Given the description of an element on the screen output the (x, y) to click on. 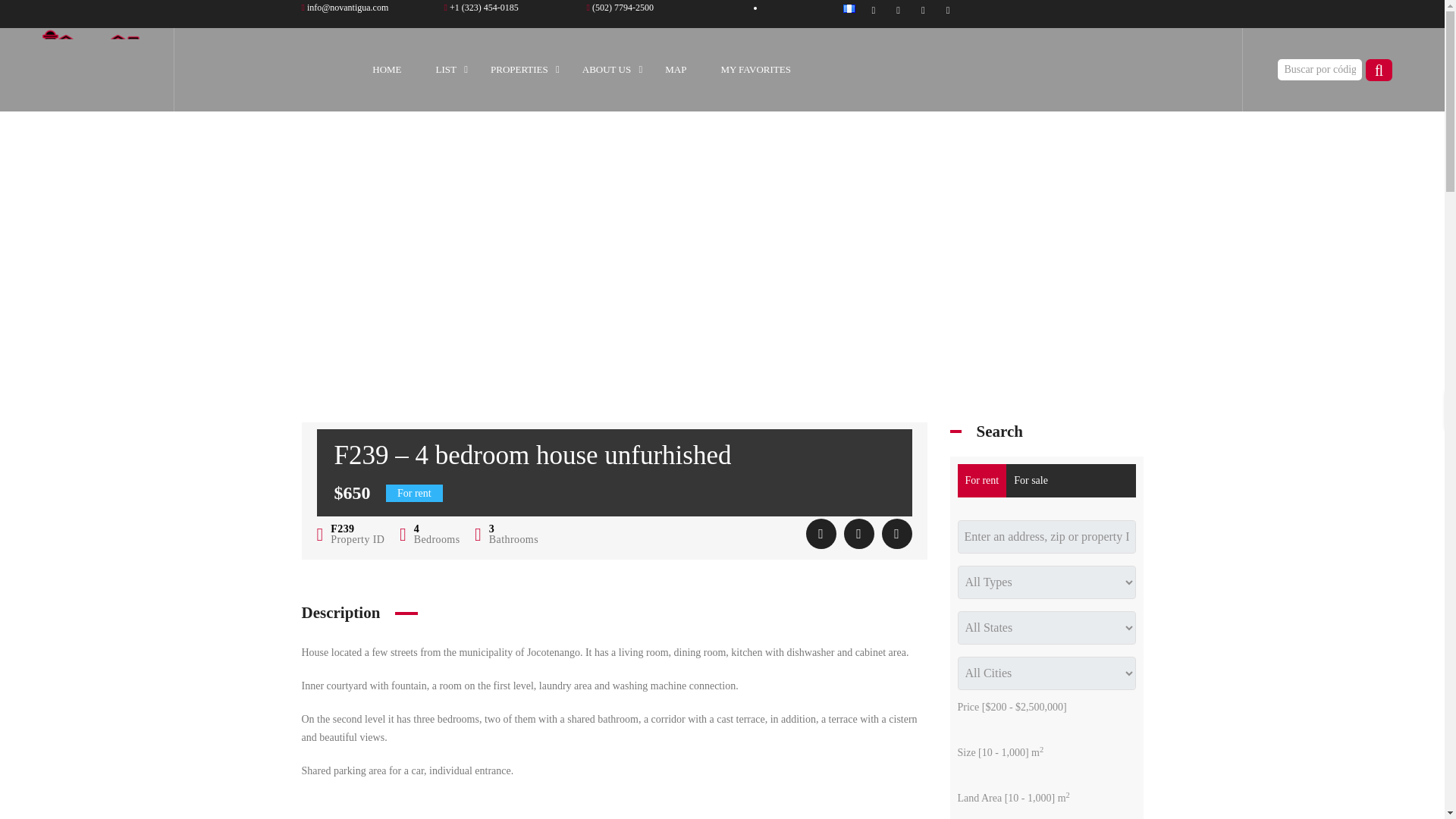
Submit Property (481, 7)
Add to Favorite (820, 533)
Submit Property (619, 7)
Compare (858, 533)
